Given the description of an element on the screen output the (x, y) to click on. 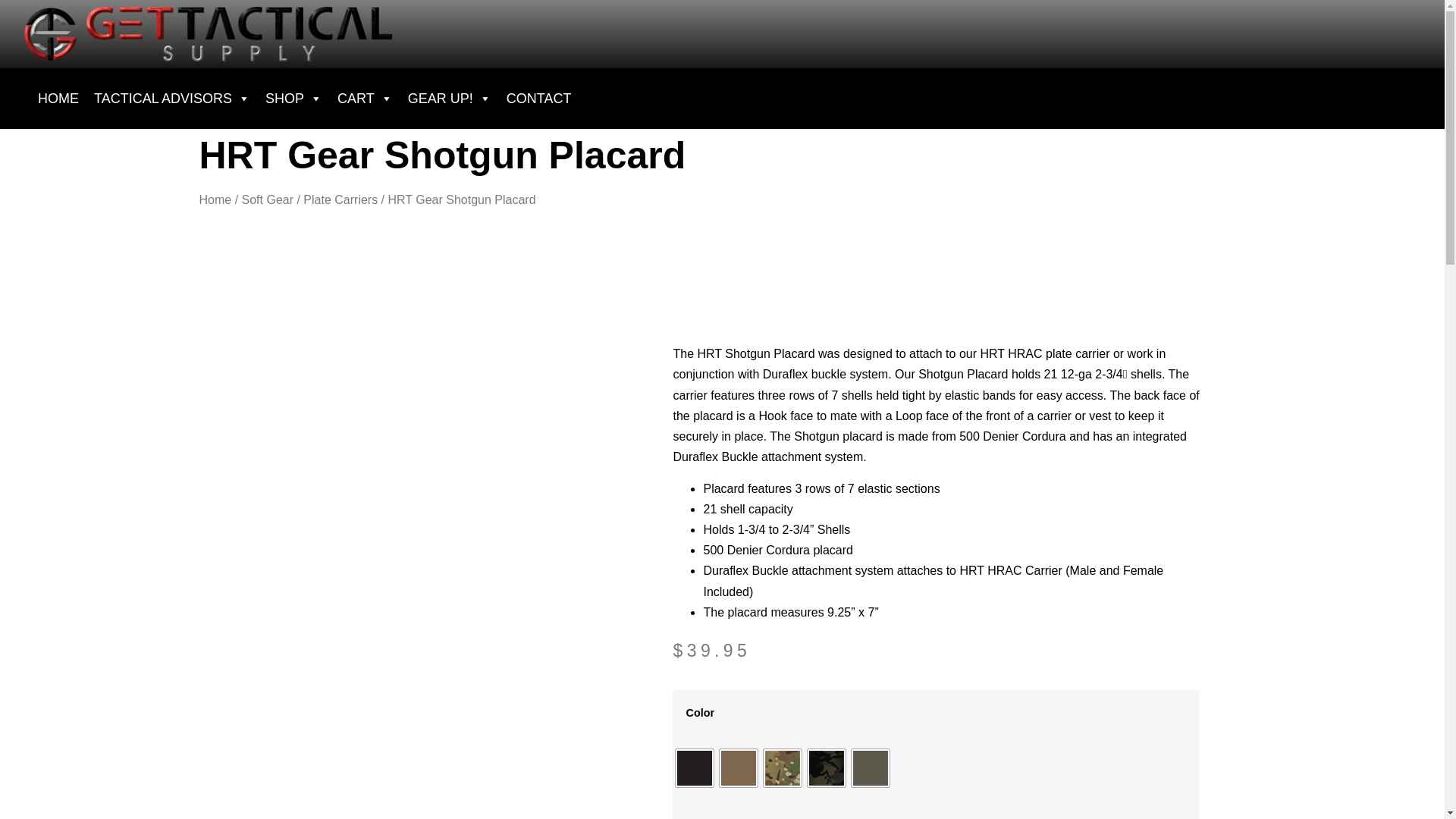
Black (694, 768)
Ranger Green (870, 768)
TACTICAL ADVISORS (171, 98)
SHOP (293, 98)
MultiCam (782, 768)
HOME (57, 98)
MultiCam Black (826, 768)
Coyote Brown (738, 768)
